Given the description of an element on the screen output the (x, y) to click on. 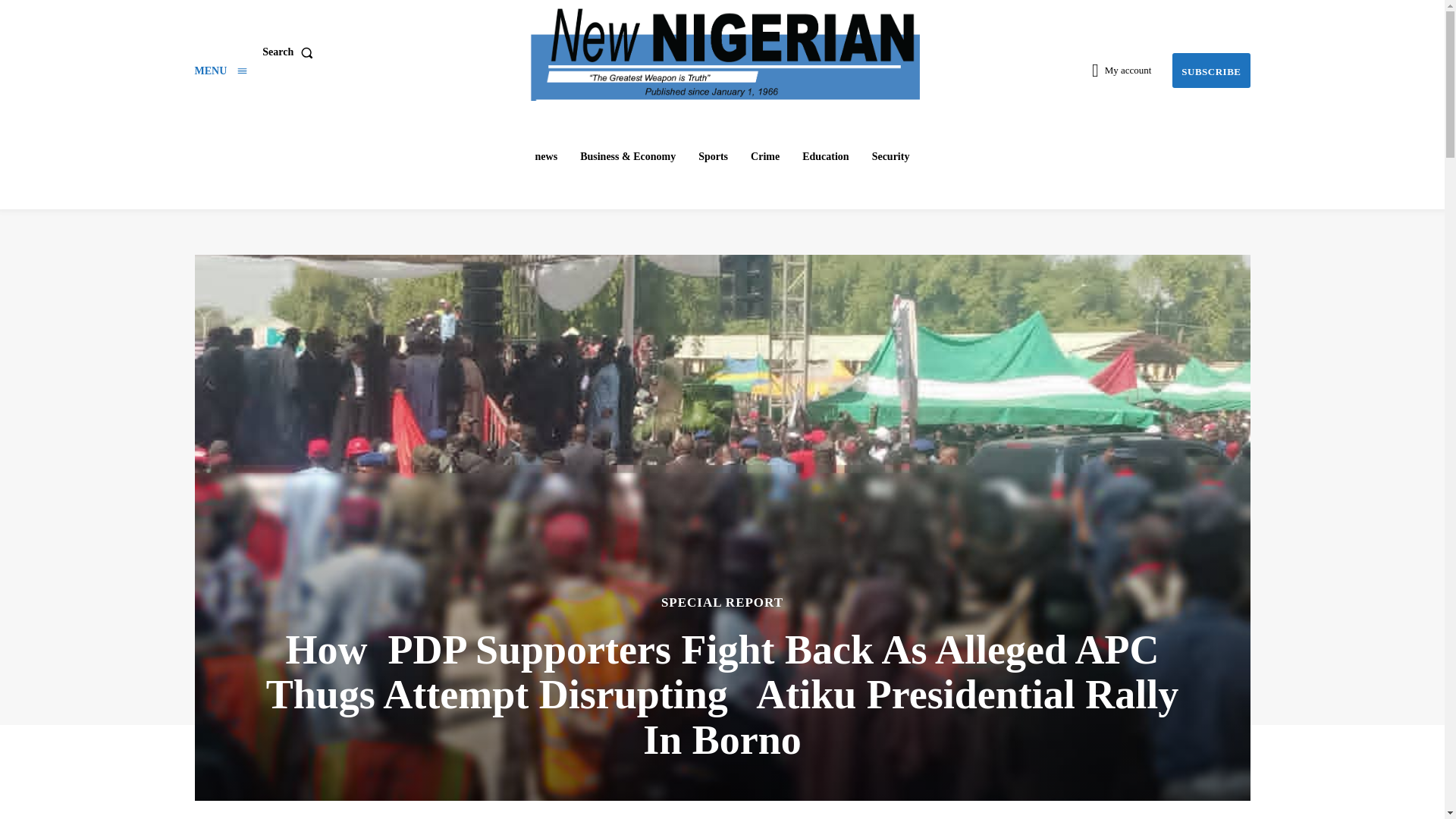
Crime (764, 156)
Security (890, 156)
Education (825, 156)
Menu (220, 70)
SUBSCRIBE (1210, 70)
Search (290, 51)
Subscribe (1210, 70)
Sports (712, 156)
MENU (220, 70)
news (546, 156)
